Given the description of an element on the screen output the (x, y) to click on. 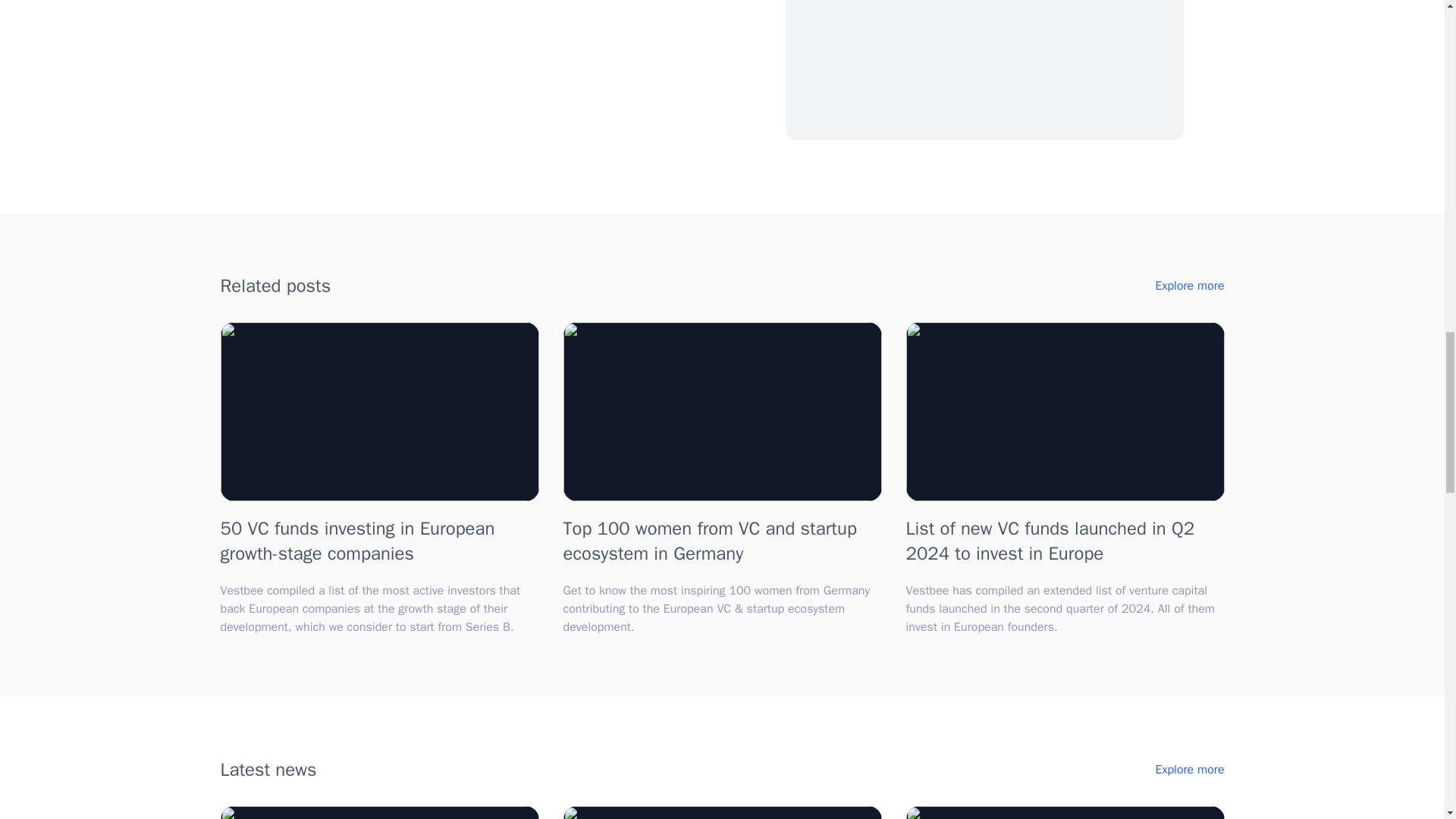
Explore more (1189, 285)
